Given the description of an element on the screen output the (x, y) to click on. 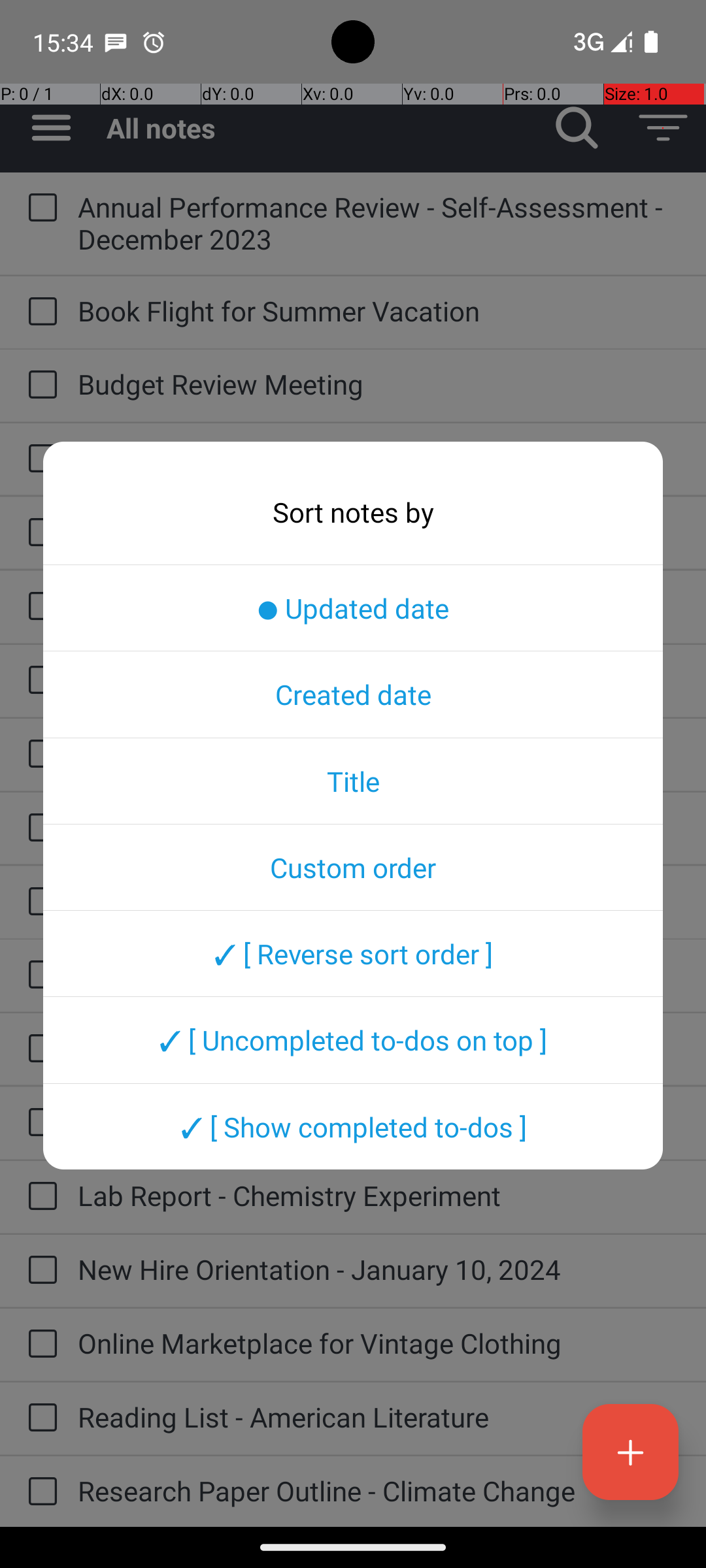
⬤ Updated date Element type: android.widget.TextView (352, 607)
Created date Element type: android.widget.TextView (352, 693)
Custom order Element type: android.widget.TextView (352, 866)
✓ [ Reverse sort order ] Element type: android.widget.TextView (352, 953)
✓ [ Uncompleted to-dos on top ] Element type: android.widget.TextView (352, 1039)
✓ [ Show completed to-dos ] Element type: android.widget.TextView (352, 1126)
to-do: Book Flight for Summer Vacation Element type: android.widget.CheckBox (38, 312)
Book Flight for Summer Vacation Element type: android.widget.TextView (378, 310)
to-do: Budget Review Meeting Element type: android.widget.CheckBox (38, 385)
Budget Review Meeting Element type: android.widget.TextView (378, 383)
to-do: Campus Resources - Writing Center Element type: android.widget.CheckBox (38, 459)
Campus Resources - Writing Center Element type: android.widget.TextView (378, 457)
to-do: Chocolate Chip Cookies Element type: android.widget.CheckBox (38, 533)
Chocolate Chip Cookies Element type: android.widget.TextView (378, 531)
to-do: Exercise Ideas Element type: android.widget.CheckBox (38, 606)
Exercise Ideas Element type: android.widget.TextView (378, 604)
to-do: Financial Aid Checklist Element type: android.widget.CheckBox (38, 754)
Financial Aid Checklist Element type: android.widget.TextView (378, 752)
to-do: Flashcards - Spanish Vocabulary Element type: android.widget.CheckBox (38, 828)
Flashcards - Spanish Vocabulary Element type: android.widget.TextView (378, 826)
to-do: Flight Confirmation - Round-trip to Tokyo Element type: android.widget.CheckBox (38, 902)
to-do: Home Maintenance Schedule Element type: android.widget.CheckBox (38, 975)
Home Maintenance Schedule Element type: android.widget.TextView (378, 973)
to-do: Insurance Policies Summary Element type: android.widget.CheckBox (38, 1049)
Insurance Policies Summary Element type: android.widget.TextView (378, 1047)
to-do: Internship Opportunities - Summer 2024 Element type: android.widget.CheckBox (38, 1123)
Internship Opportunities - Summer 2024 Element type: android.widget.TextView (378, 1121)
to-do: Lab Report - Chemistry Experiment Element type: android.widget.CheckBox (38, 1196)
Lab Report - Chemistry Experiment Element type: android.widget.TextView (378, 1194)
to-do: New Hire Orientation - January 10, 2024 Element type: android.widget.CheckBox (38, 1270)
New Hire Orientation - January 10, 2024 Element type: android.widget.TextView (378, 1268)
to-do: Reading List - American Literature Element type: android.widget.CheckBox (38, 1418)
Reading List - American Literature Element type: android.widget.TextView (378, 1416)
to-do: Research Paper Outline - Climate Change Element type: android.widget.CheckBox (38, 1491)
Research Paper Outline - Climate Change Element type: android.widget.TextView (378, 1490)
